Given the description of an element on the screen output the (x, y) to click on. 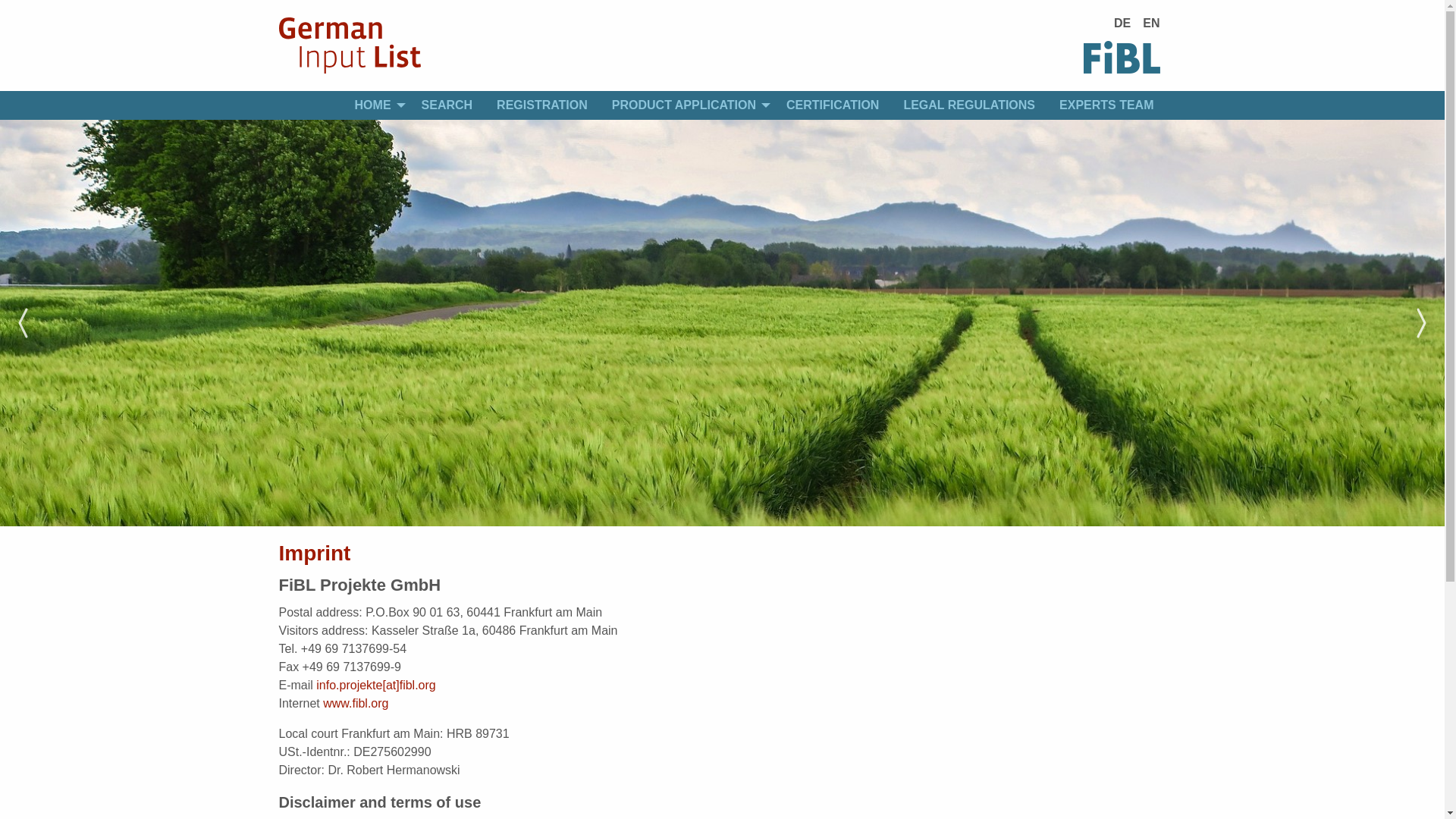
REGISTRATION (541, 104)
LEGAL REGULATIONS (968, 104)
Opens internal link in current window  (355, 703)
CERTIFICATION (832, 104)
SEARCH (446, 104)
www.fibl.org (355, 703)
HOME (375, 104)
Opens internal link in current window  (375, 684)
PRODUCT APPLICATION (686, 104)
DE (1122, 23)
EXPERTS TEAM (1106, 104)
EN (1151, 23)
